Given the description of an element on the screen output the (x, y) to click on. 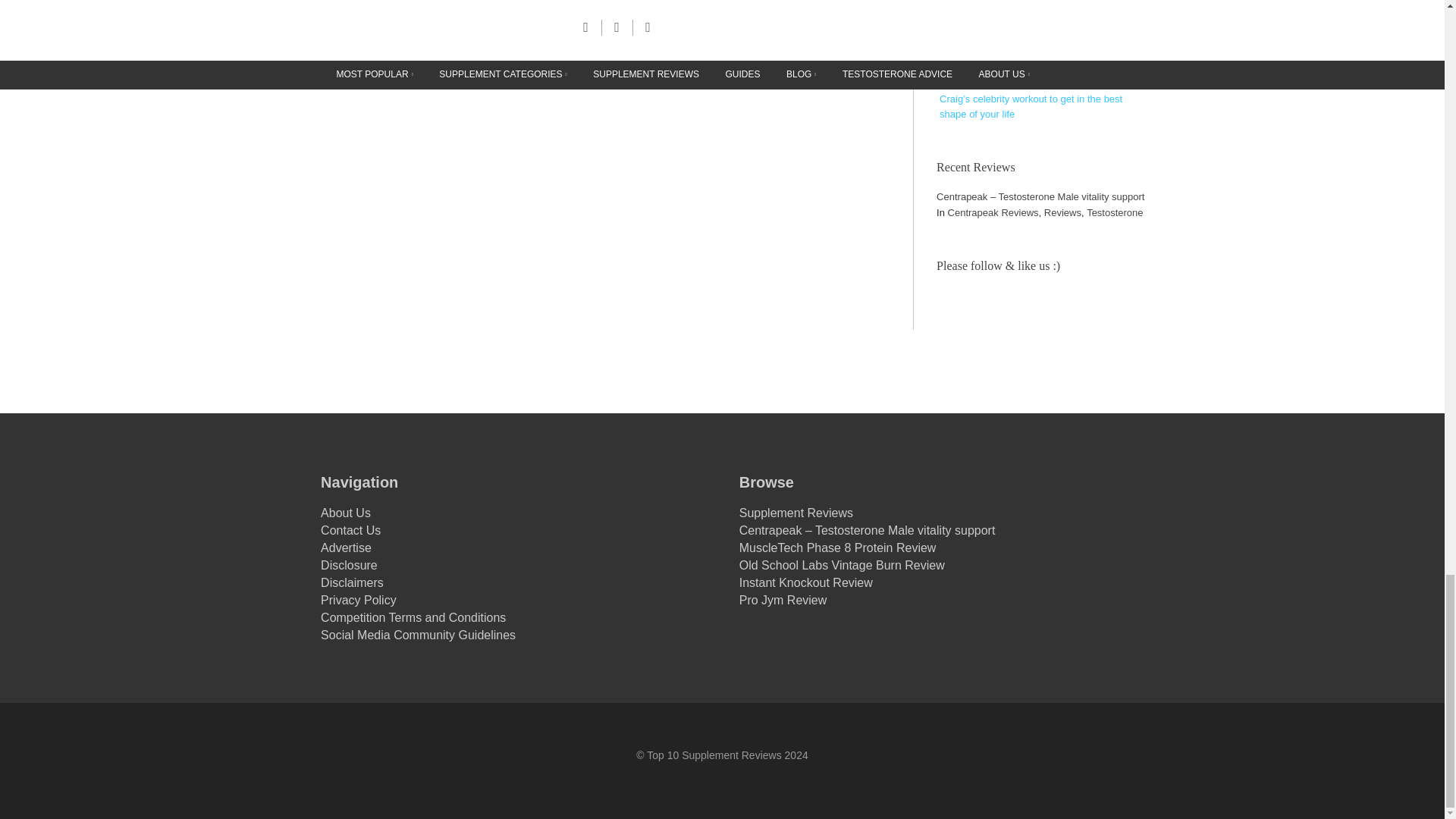
Facebook (954, 306)
